Given the description of an element on the screen output the (x, y) to click on. 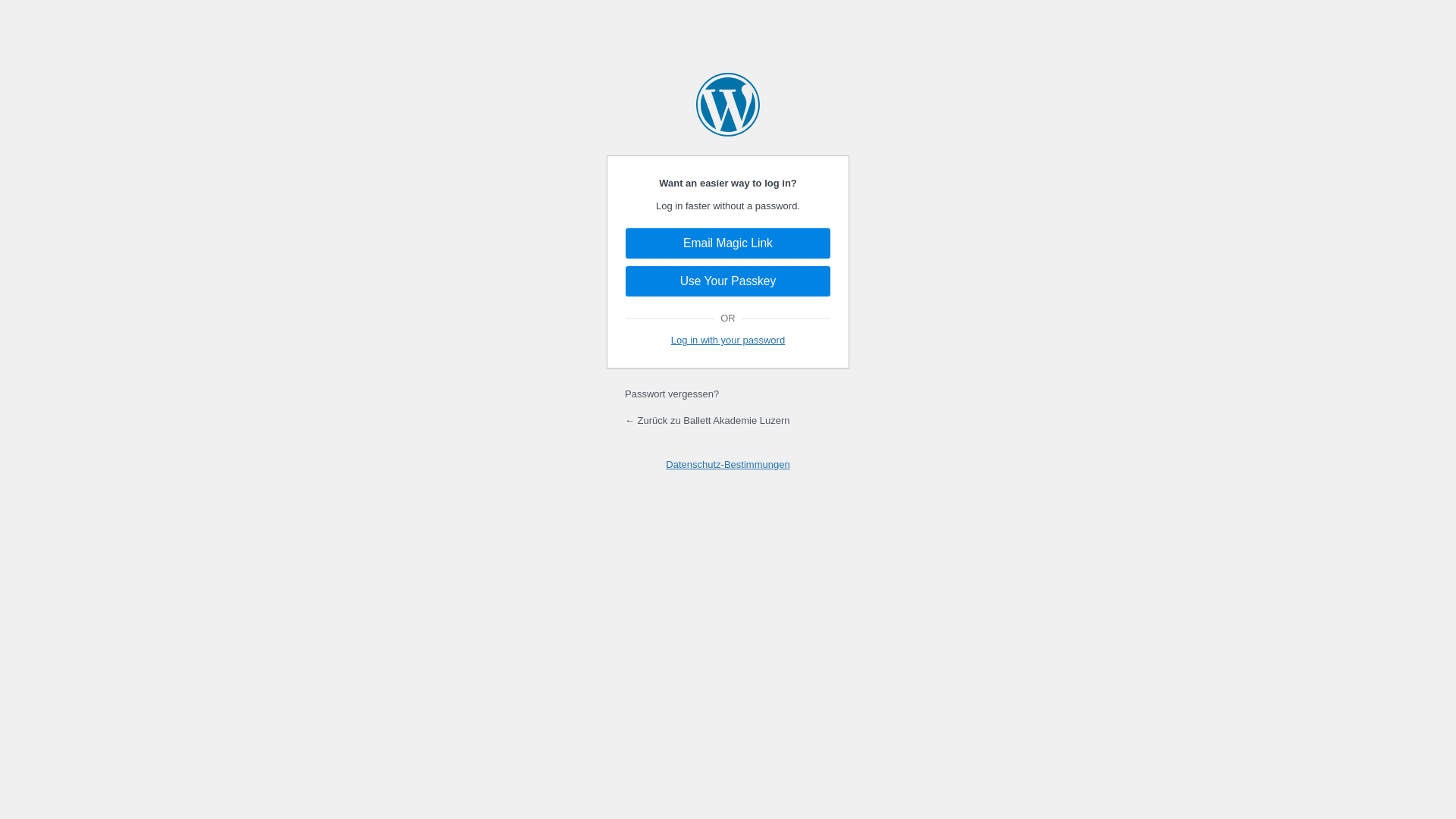
Datenschutz-Bestimmungen Element type: text (727, 464)
Powered by WordPress Element type: text (727, 104)
Use Your Passkey Element type: text (727, 281)
Log in with your password Element type: text (727, 339)
Email Magic Link Element type: text (727, 243)
Passwort vergessen? Element type: text (671, 393)
